Given the description of an element on the screen output the (x, y) to click on. 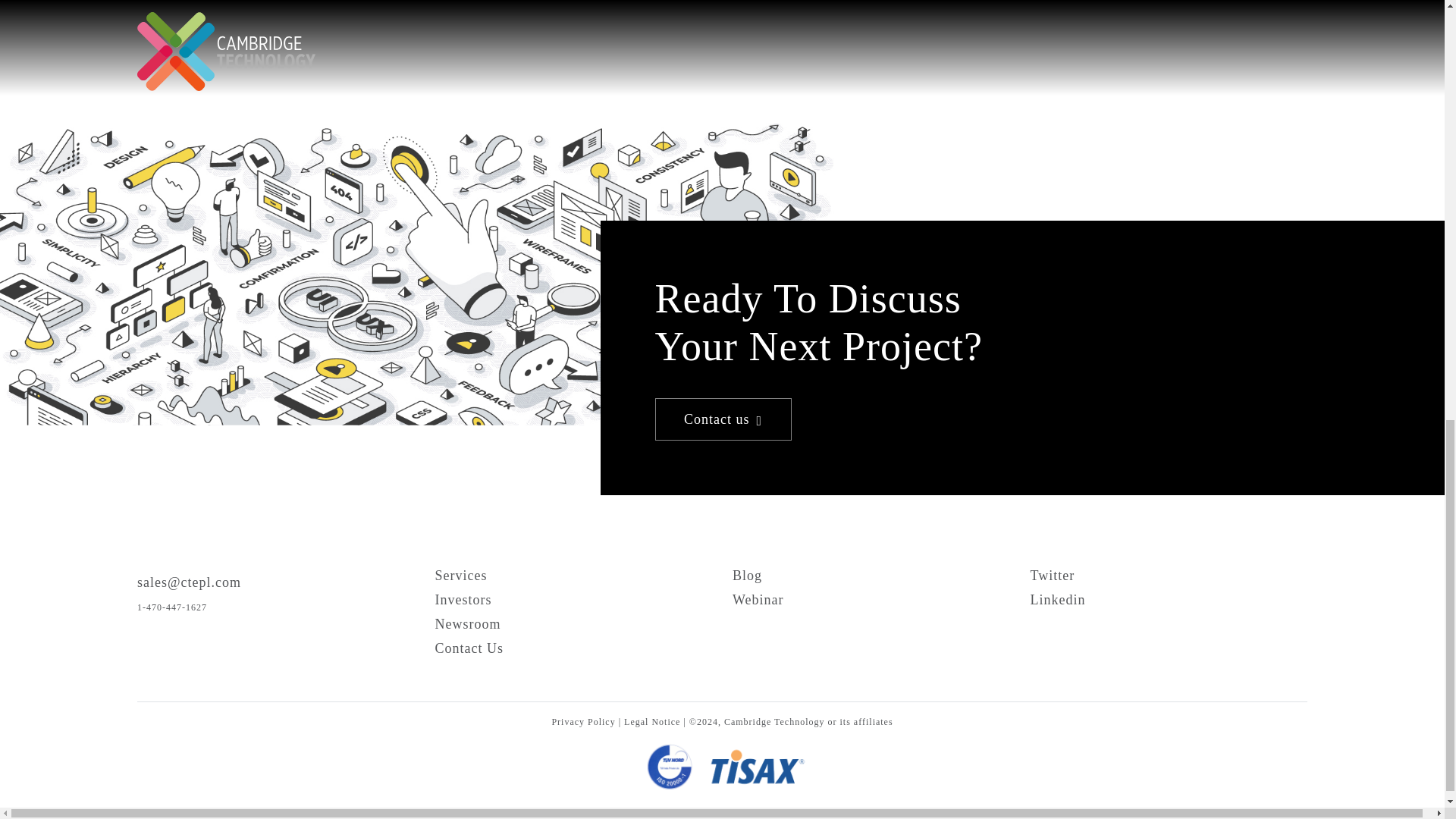
Contact us (723, 419)
